Given the description of an element on the screen output the (x, y) to click on. 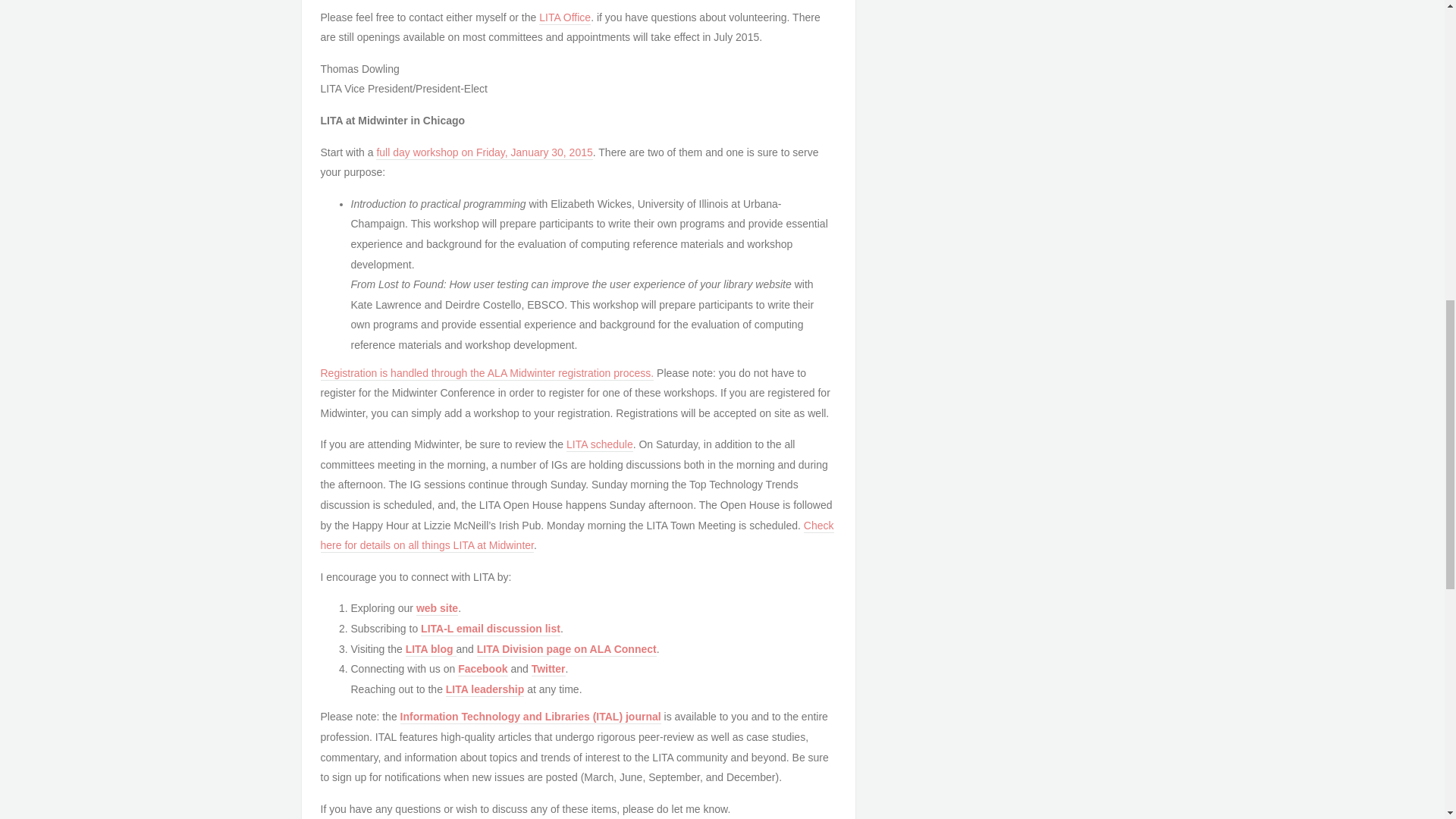
Twitter (548, 669)
LITA-L email discussion list (490, 629)
LITA Office (564, 18)
LITA schedule (599, 445)
full day workshop on Friday, January 30, 2015 (483, 152)
LITA leadership (484, 689)
LITA Division page on ALA Connect (566, 649)
web site (437, 608)
Facebook (482, 669)
LITA blog (431, 649)
Check here for details on all things LITA at Midwinter (576, 536)
